Given the description of an element on the screen output the (x, y) to click on. 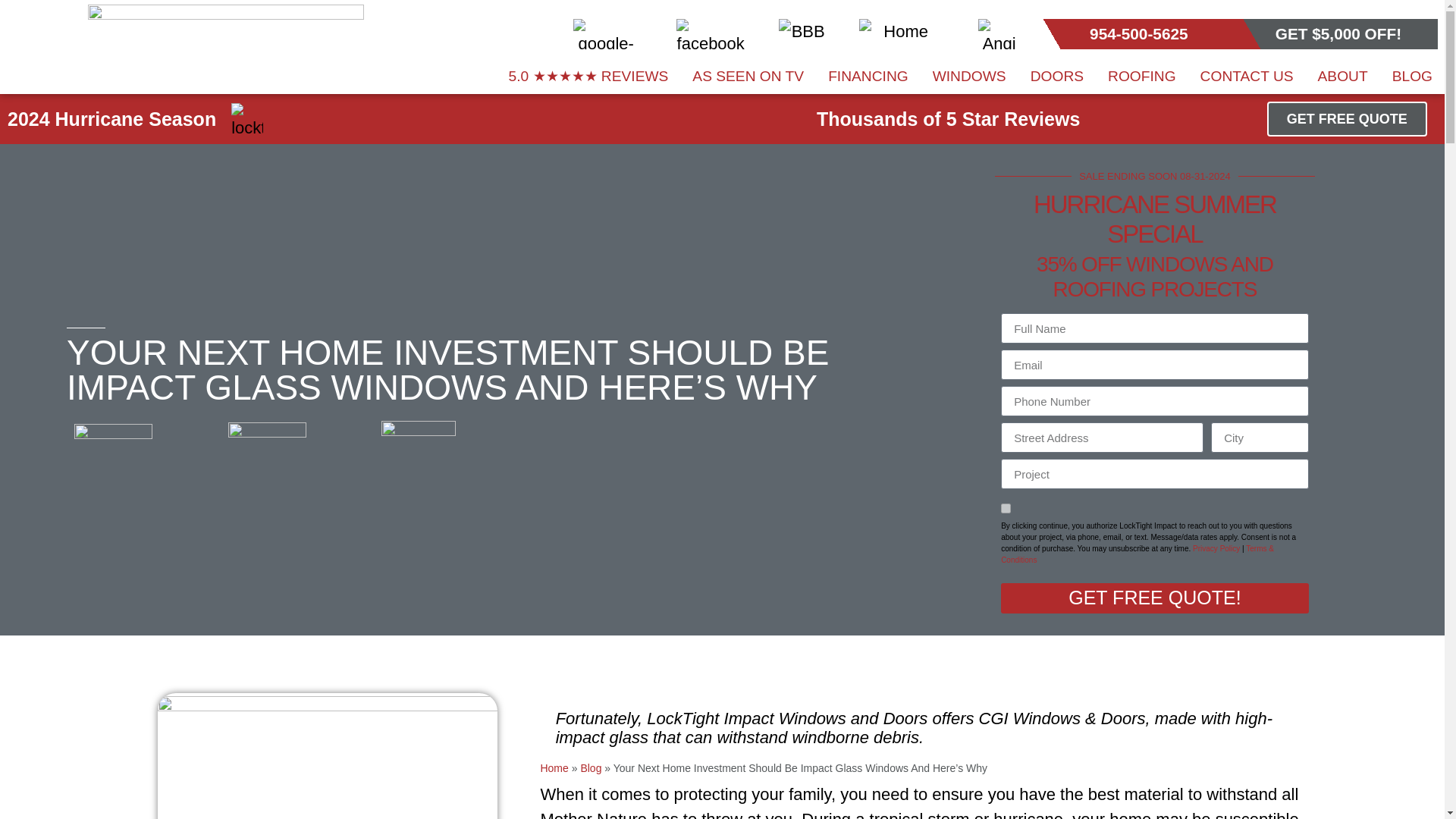
Angi (999, 33)
Home Advisor (899, 33)
facebook (710, 33)
on (1005, 508)
BBB (801, 33)
